Given the description of an element on the screen output the (x, y) to click on. 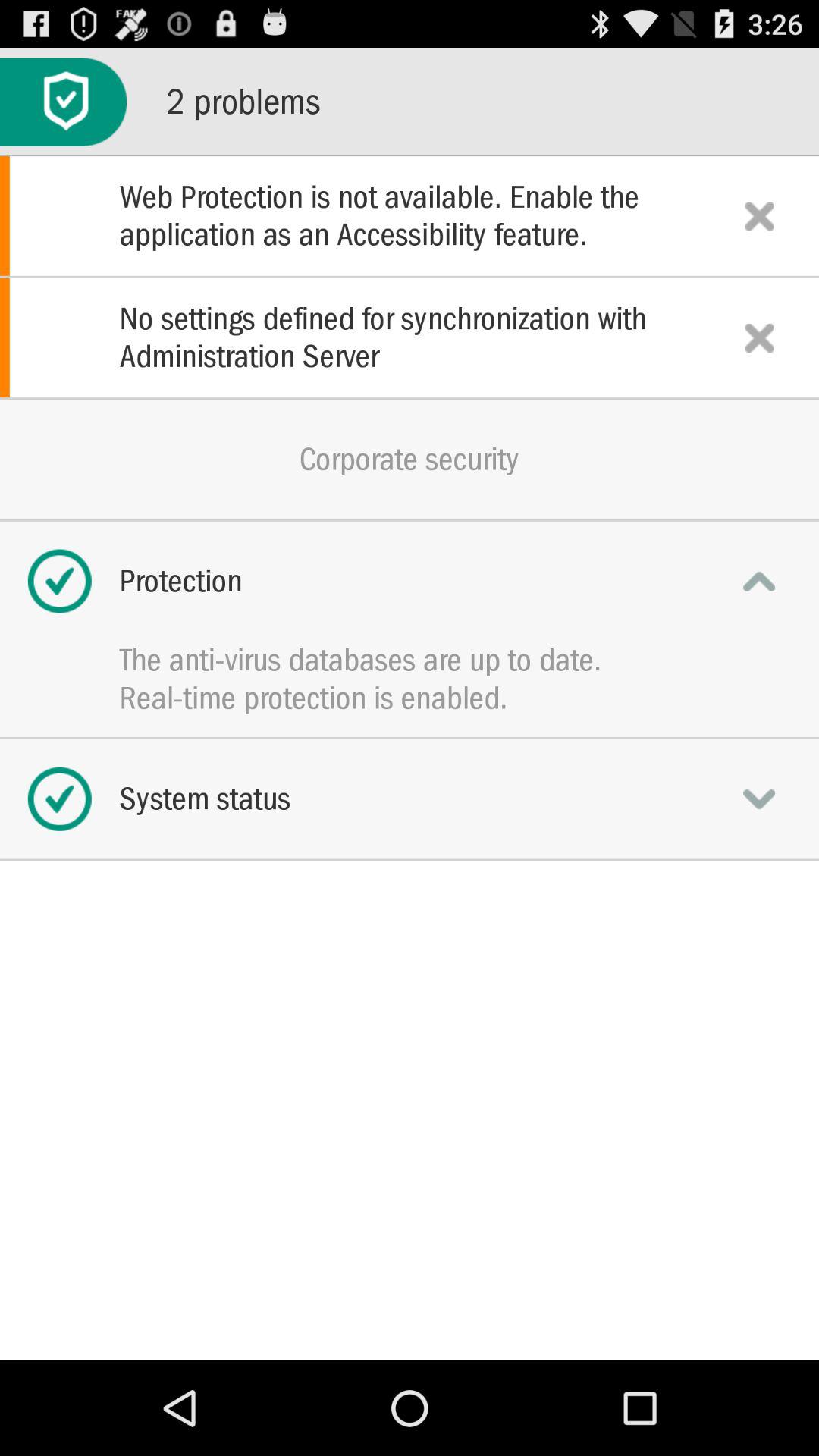
click on the down arrow button at bottom right (759, 799)
click on drop up button (759, 580)
